Given the description of an element on the screen output the (x, y) to click on. 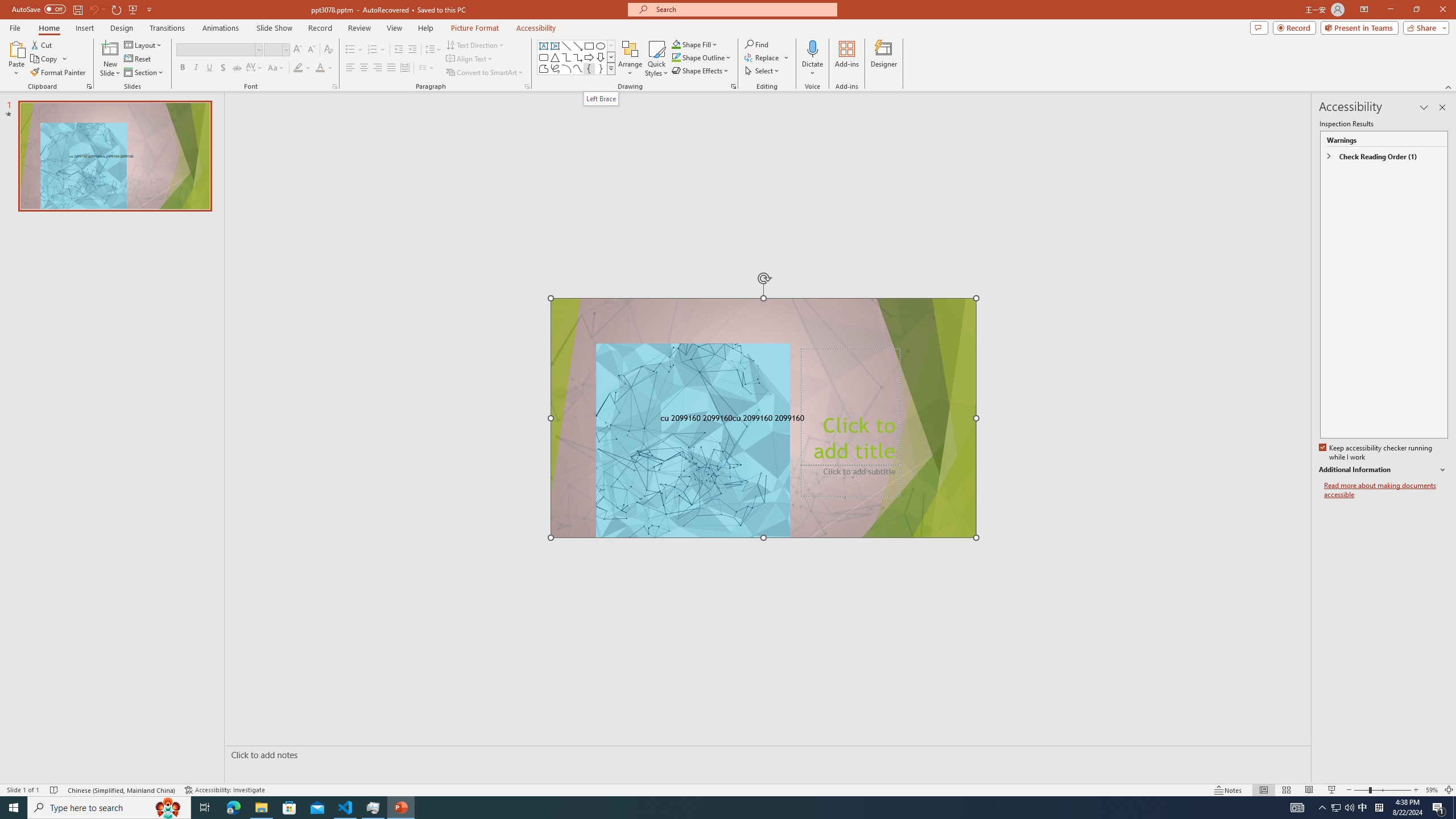
Picture Format (475, 28)
